Given the description of an element on the screen output the (x, y) to click on. 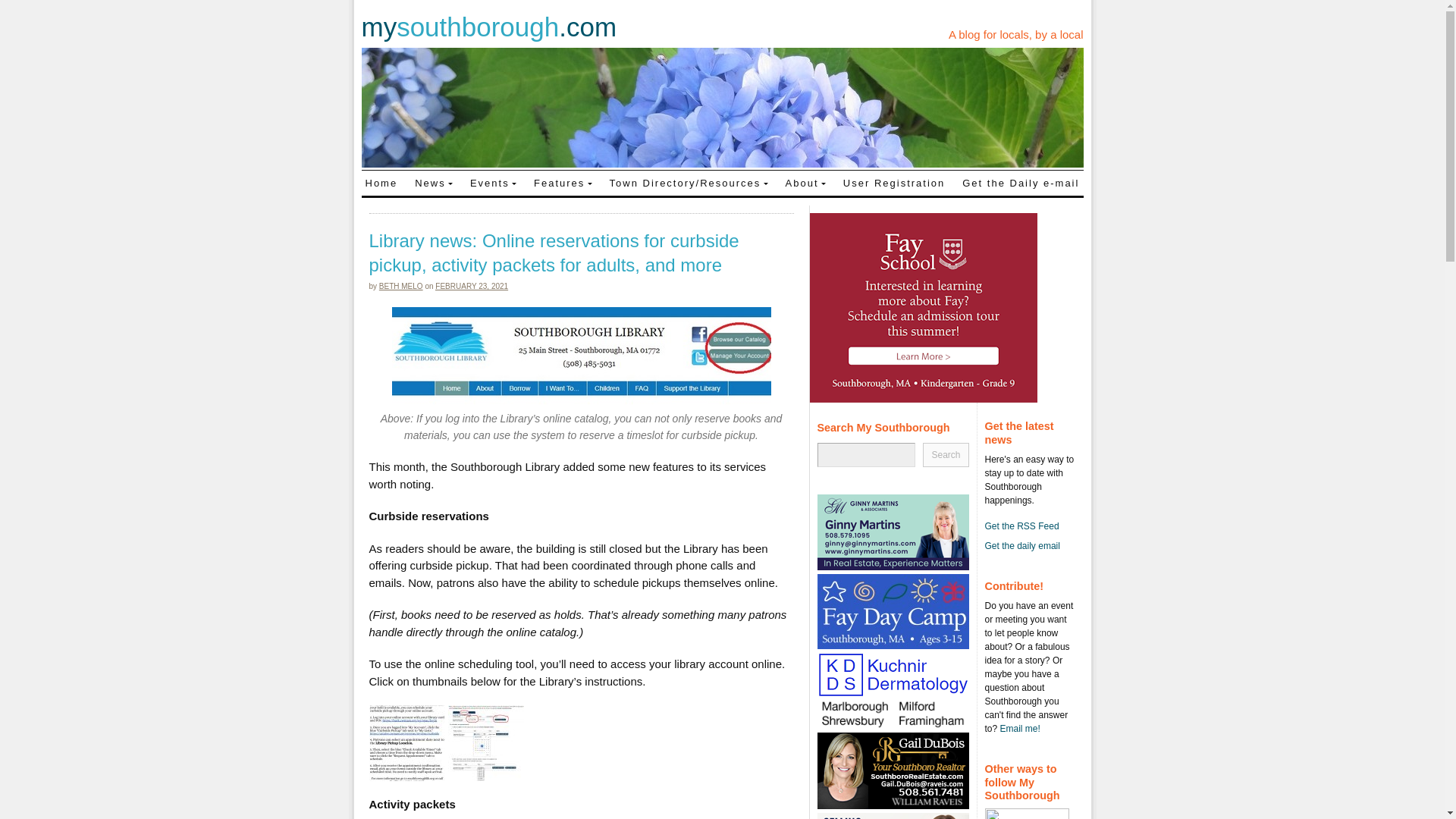
A blog for locals, by a local (1016, 33)
Events (492, 182)
Events (492, 182)
mysouthborough.com (488, 26)
News (433, 182)
Home (381, 182)
Features (562, 182)
News (433, 182)
Home (381, 182)
